Given the description of an element on the screen output the (x, y) to click on. 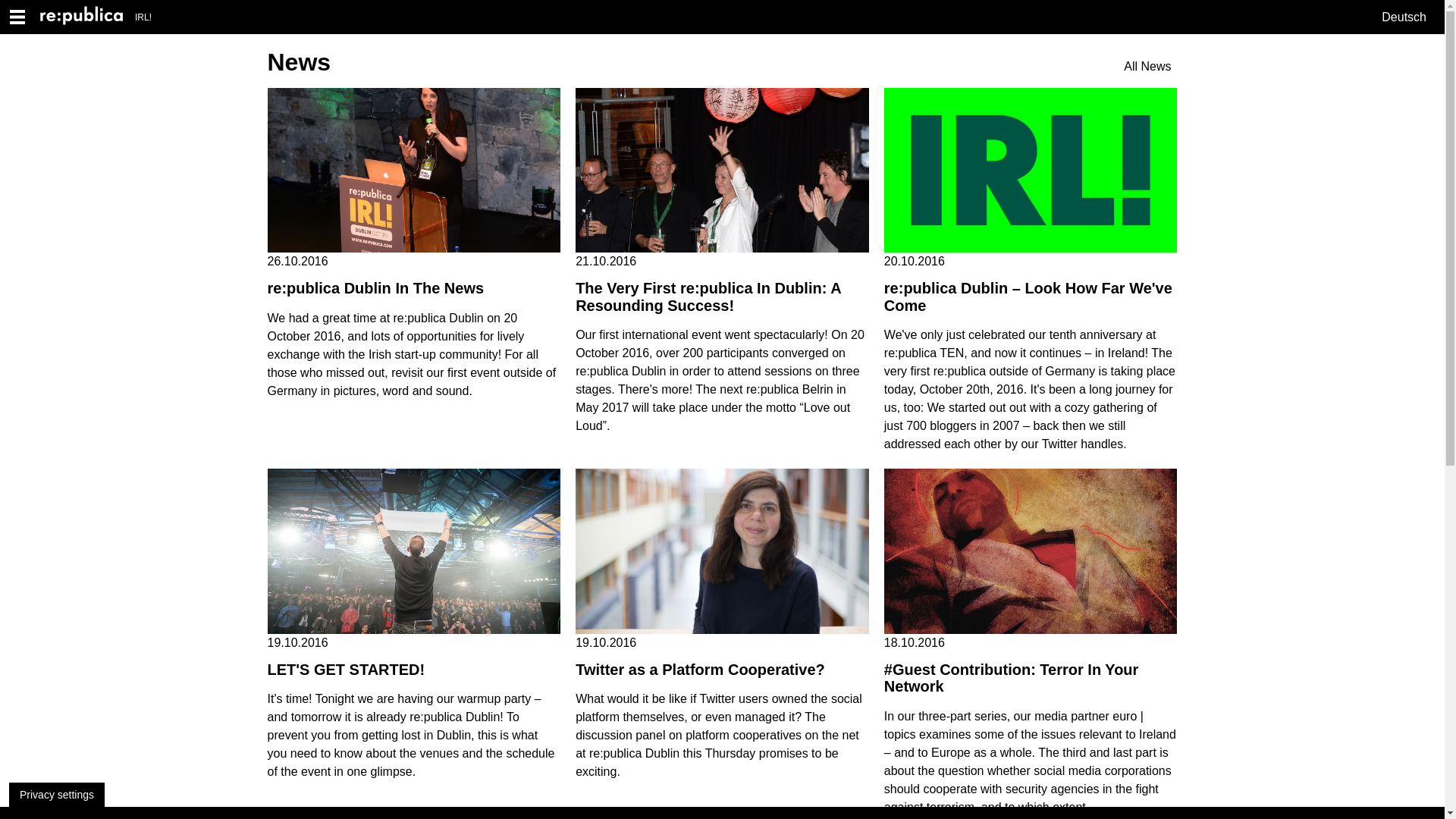
LET'S GET STARTED! (345, 669)
Deutsch (1403, 17)
Twitter as a Platform Cooperative? (700, 669)
re:publica Dublin In The News (374, 288)
Privacy settings (56, 794)
fetch-uid-.jpg (1030, 169)
Home (87, 17)
The Very First re:publica In Dublin: A Resounding Success! (708, 296)
